Given the description of an element on the screen output the (x, y) to click on. 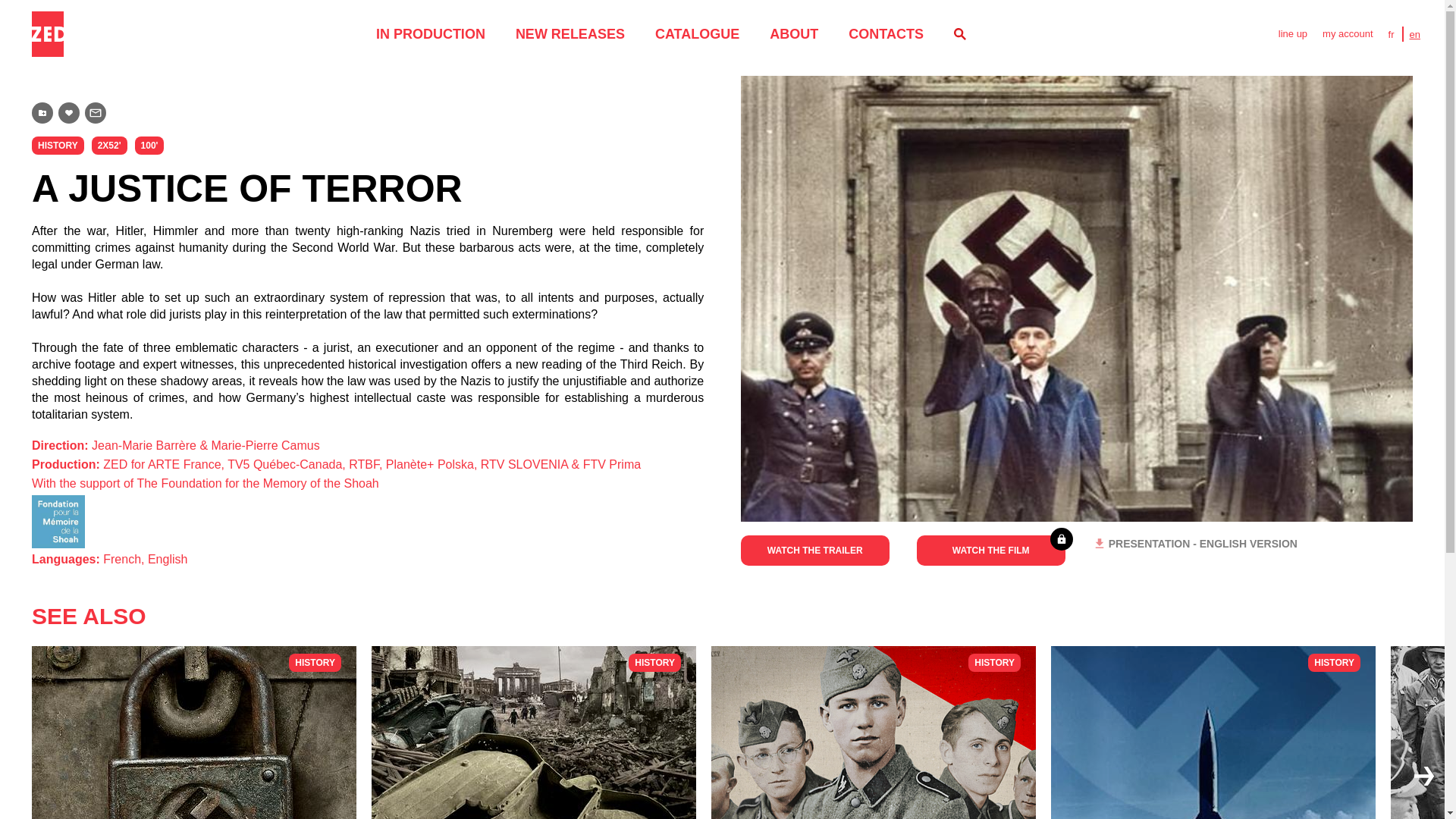
WATCH THE TRAILER (815, 550)
WATCH THE FILM (991, 550)
NEW RELEASES (569, 33)
PRESENTATION - ENGLISH VERSION (1195, 543)
CATALOGUE (1213, 732)
my account (697, 33)
en (1347, 33)
CONTACTS (1415, 34)
IN PRODUCTION (885, 33)
